Given the description of an element on the screen output the (x, y) to click on. 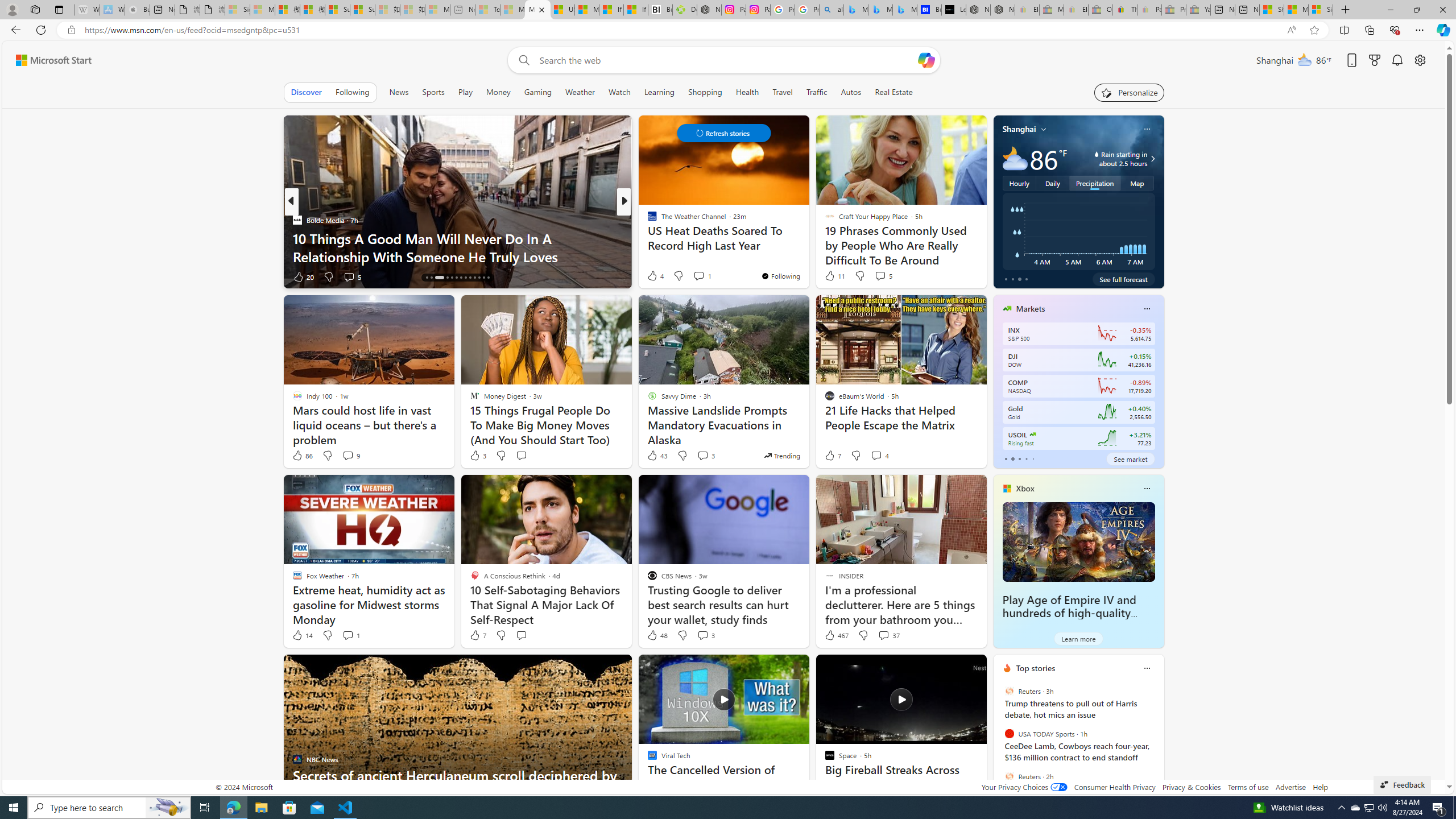
Mostly cloudy (1014, 158)
View comments 35 Comment (707, 276)
Help (1320, 786)
Microsoft account | Account Checkup - Sleeping (437, 9)
43 Like (657, 455)
20 Like (303, 276)
Privacy & Cookies (1191, 786)
